Given the description of an element on the screen output the (x, y) to click on. 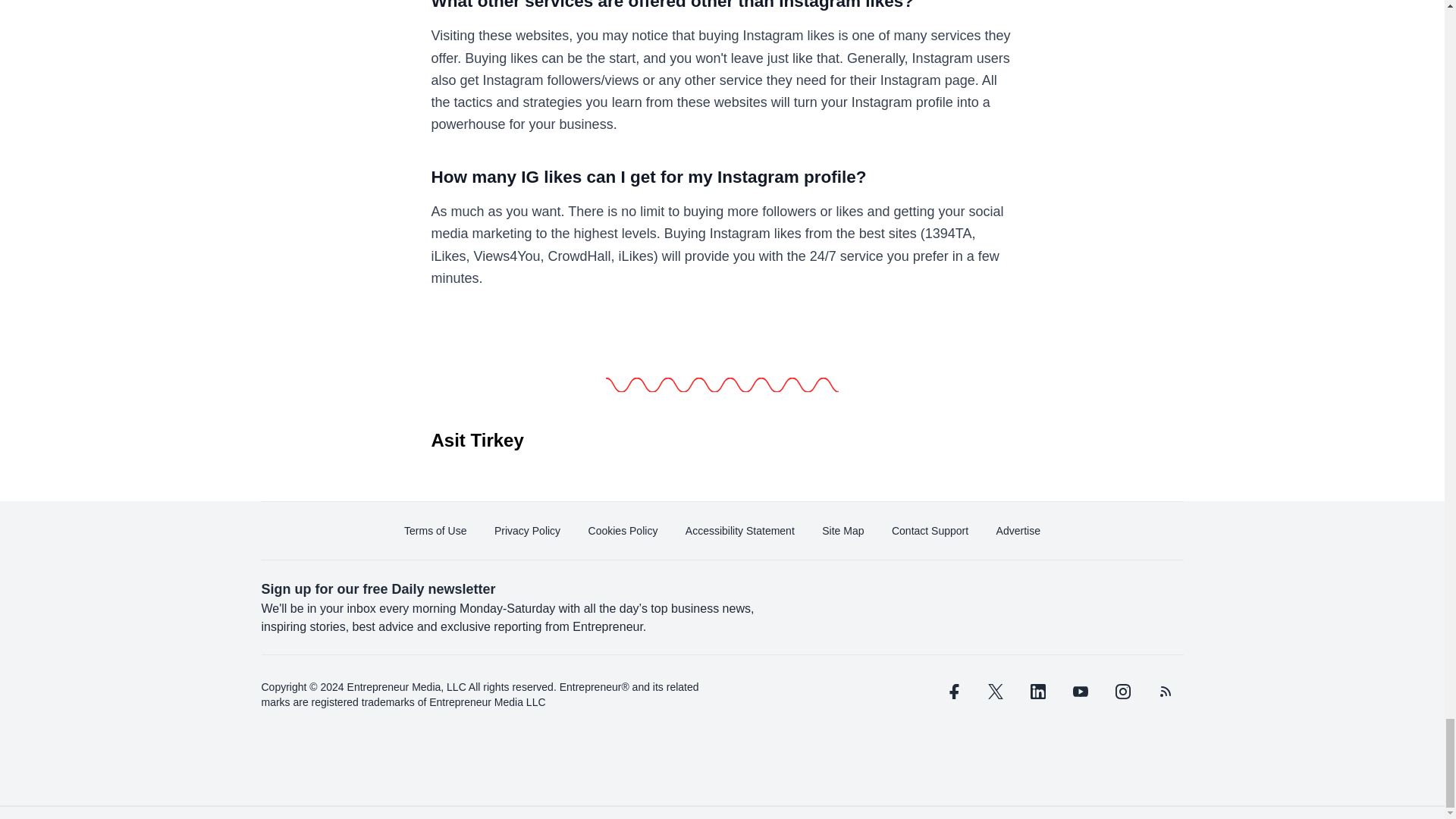
instagram (1121, 691)
twitter (994, 691)
linkedin (1037, 691)
youtube (1079, 691)
facebook (952, 691)
rss (1164, 691)
